Given the description of an element on the screen output the (x, y) to click on. 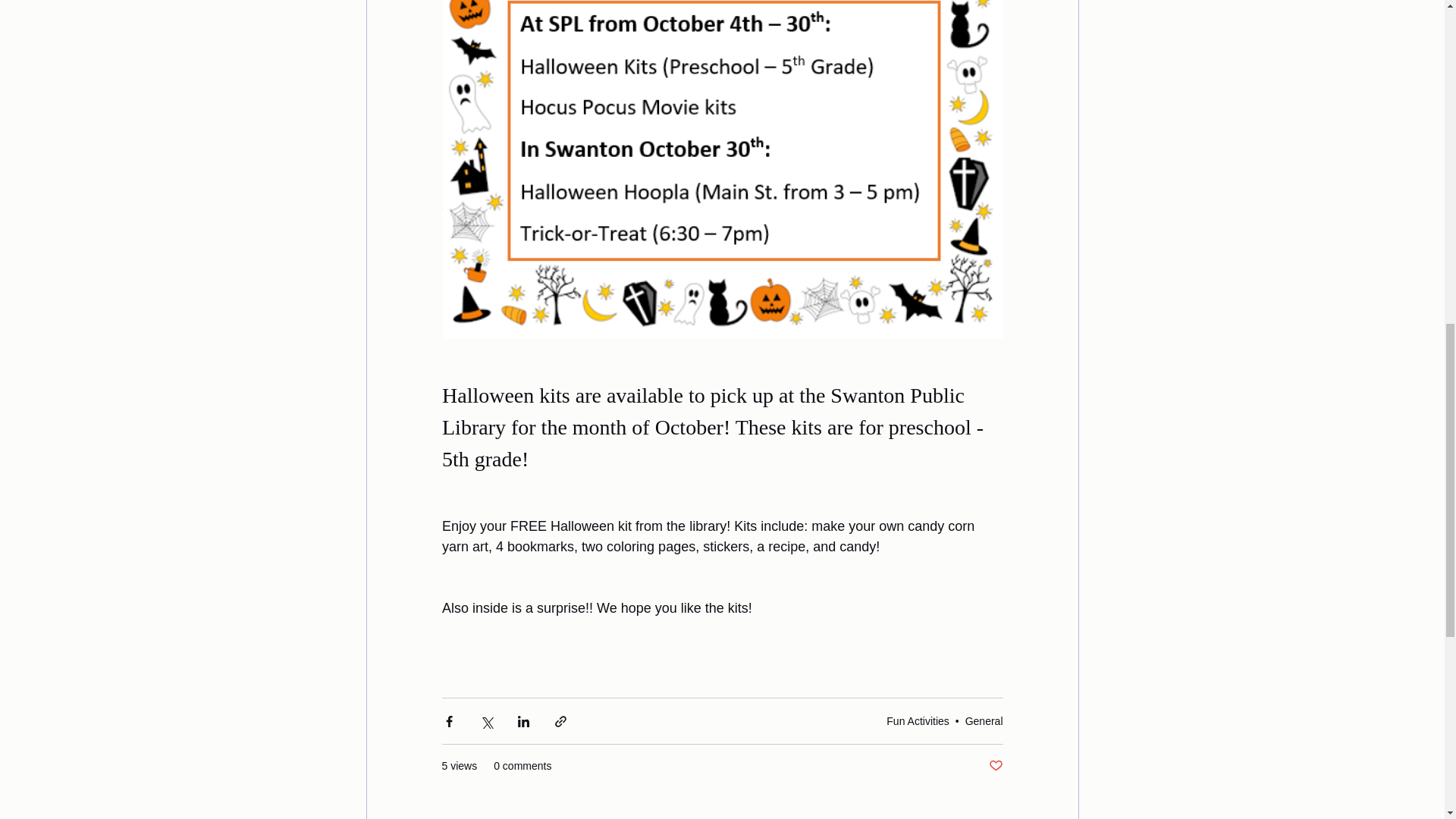
General (984, 720)
Post not marked as liked (995, 765)
Fun Activities (917, 720)
